Given the description of an element on the screen output the (x, y) to click on. 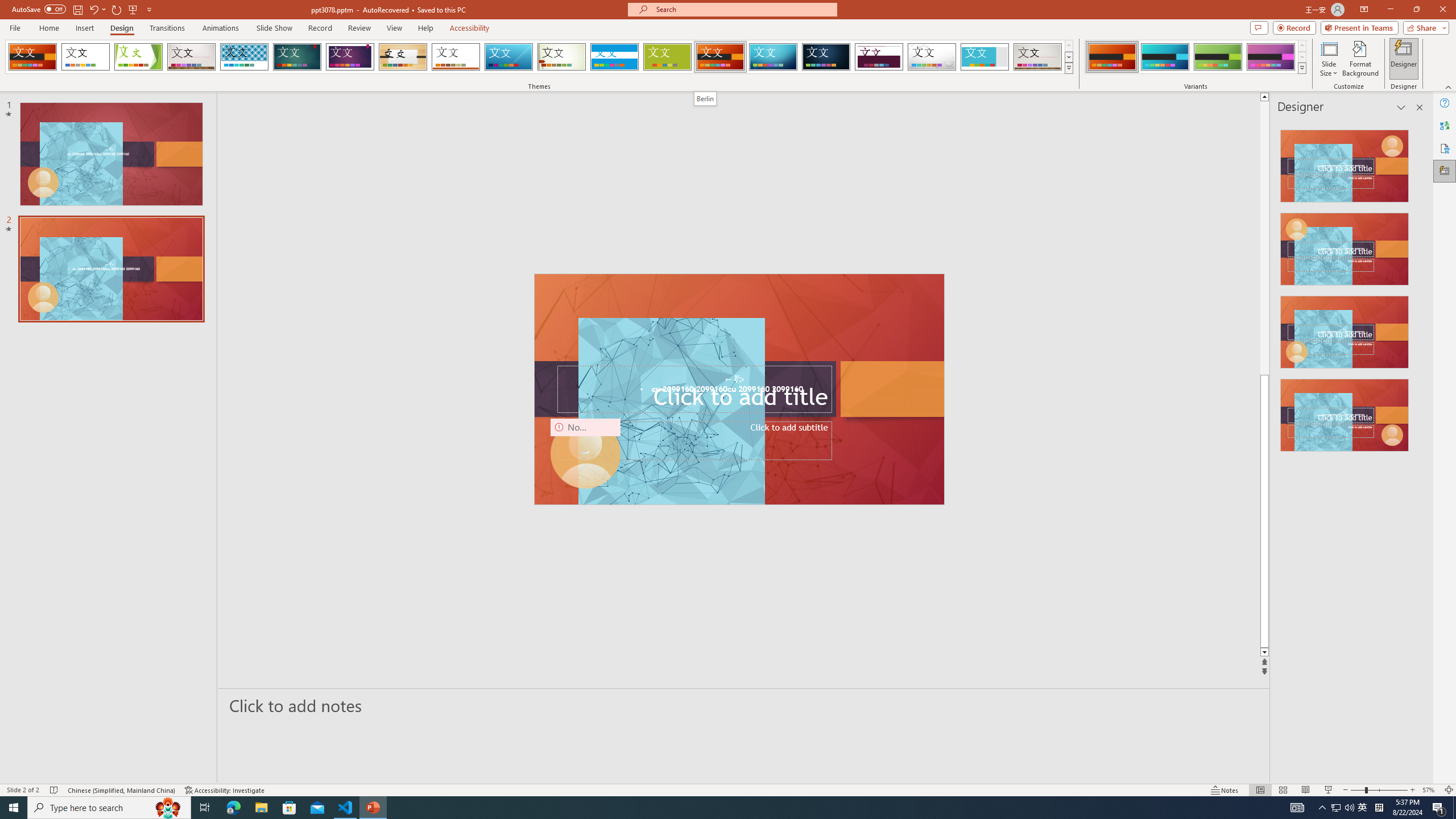
Gallery (1037, 56)
Damask (826, 56)
Droplet (931, 56)
TextBox 7 (734, 379)
Camera 9, No camera detected. (584, 453)
Slide Size (1328, 58)
